Given the description of an element on the screen output the (x, y) to click on. 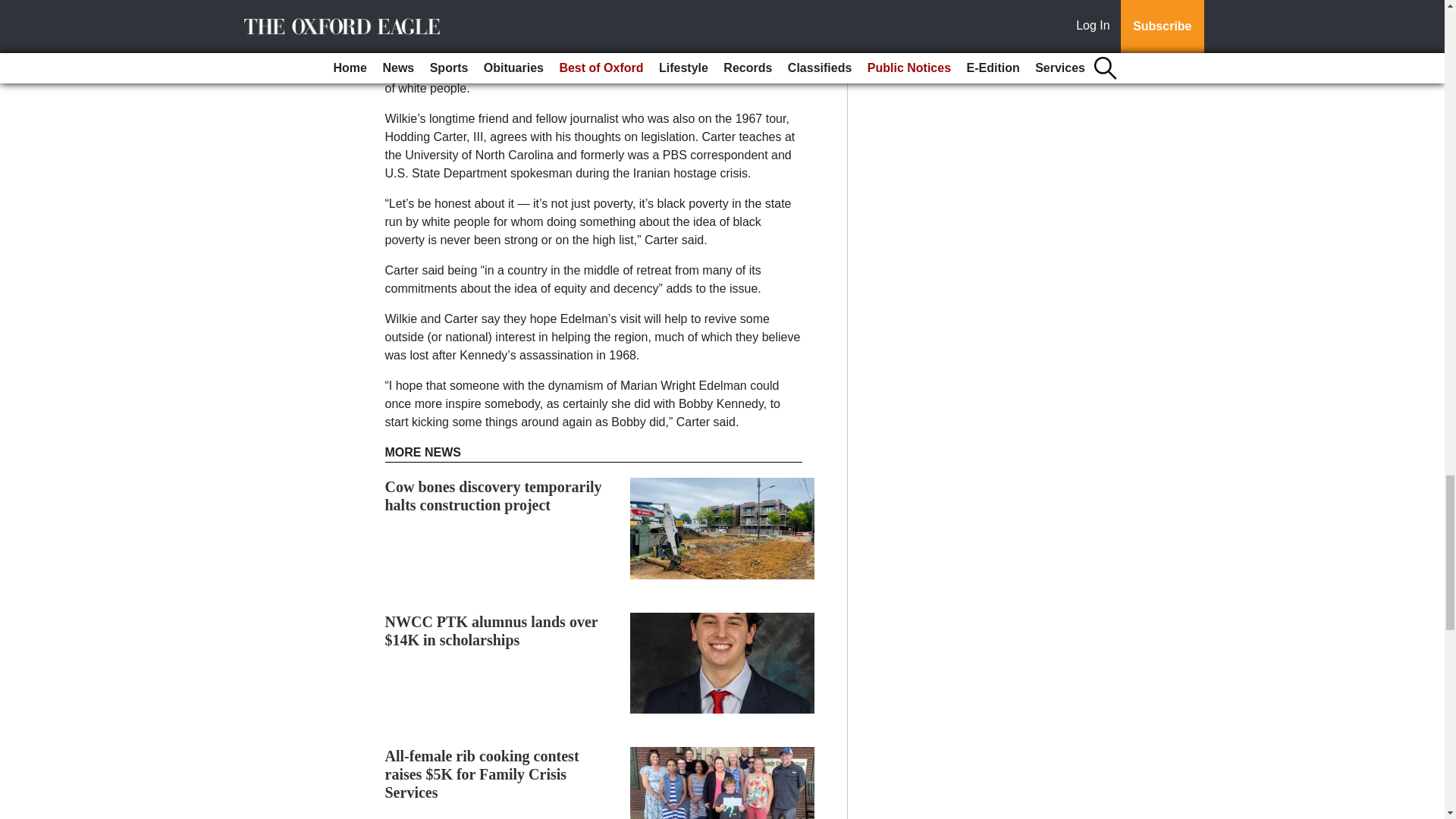
Cow bones discovery temporarily halts construction project (493, 495)
Cow bones discovery temporarily halts construction project (493, 495)
